Given the description of an element on the screen output the (x, y) to click on. 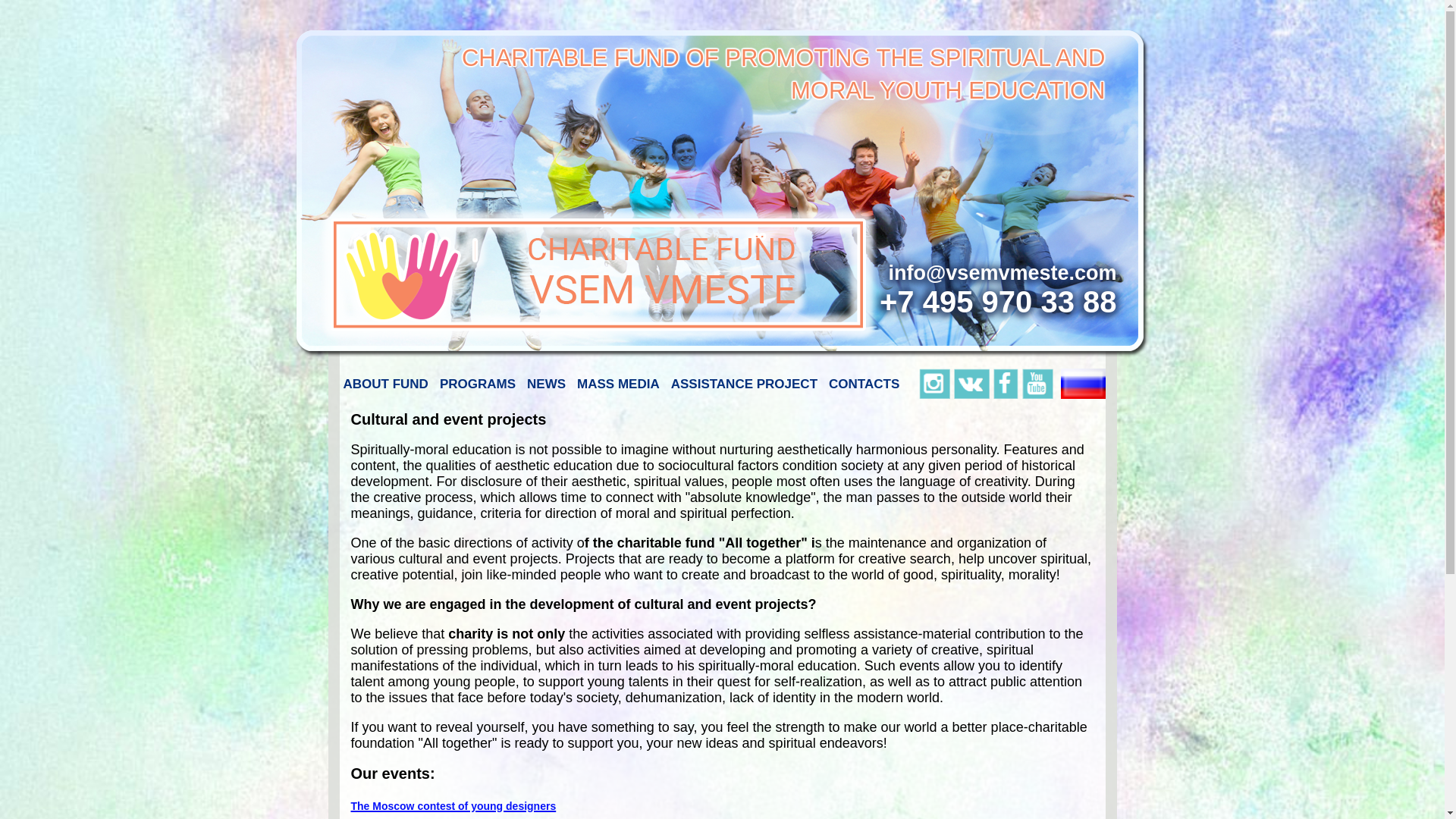
CONTACTS (863, 384)
Vsem Vmeste (596, 273)
The Moscow contest of young designers (453, 804)
ASSISTANCE PROJECT (743, 384)
MASS MEDIA (618, 384)
ABOUT FUND (385, 384)
Vsem Vmeste (596, 273)
NEWS (545, 384)
PROGRAMS (477, 384)
